Given the description of an element on the screen output the (x, y) to click on. 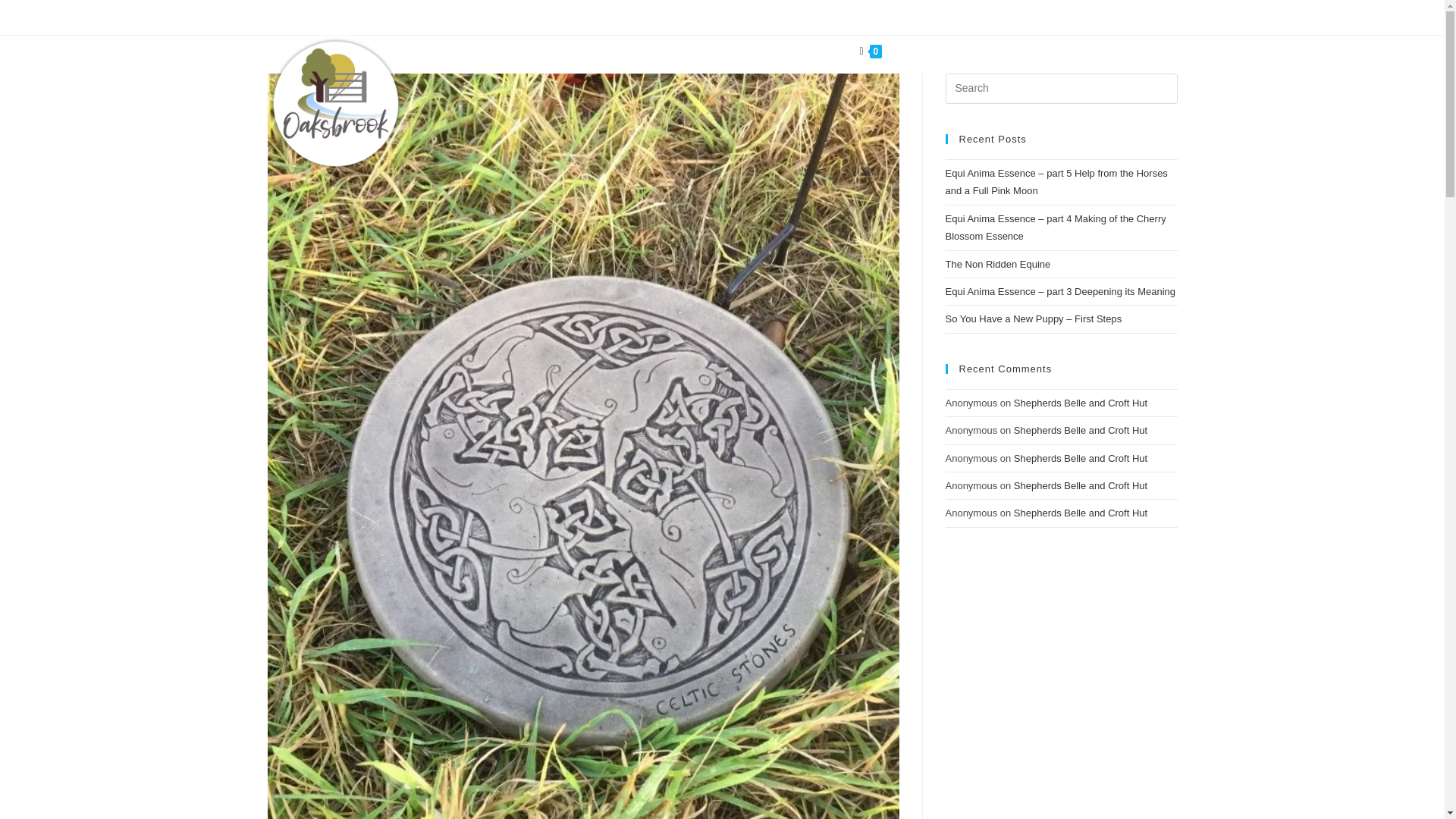
Stay With Us (544, 51)
Natural Answer (800, 16)
Oaksbrook Retreat (704, 16)
Oaksbrook Retreat (512, 16)
Our Story (473, 51)
Day Retreats (624, 51)
Natural Answer (607, 16)
Oaksbrook Shepherd Huts (914, 16)
